Given the description of an element on the screen output the (x, y) to click on. 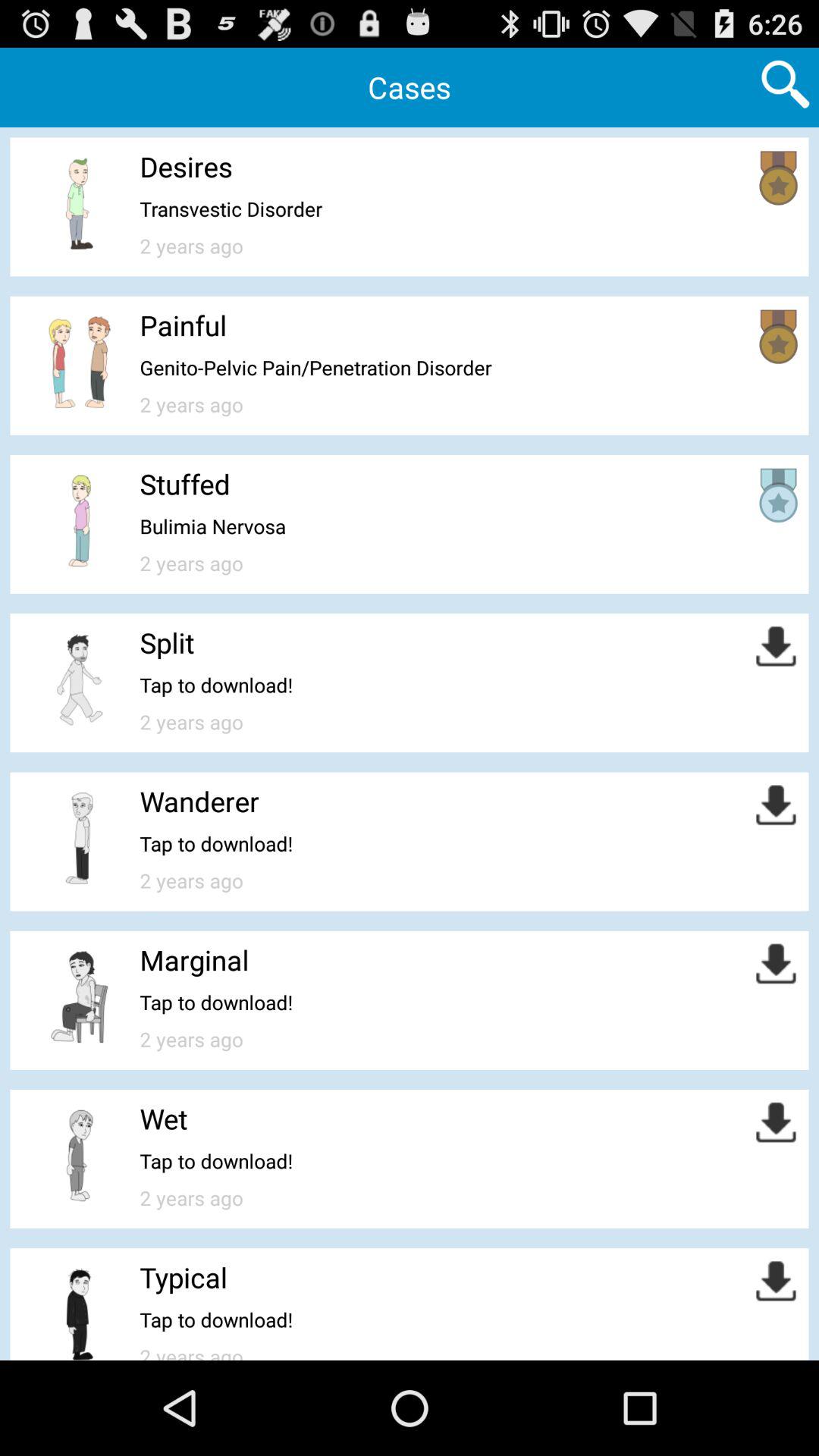
flip to the painful (182, 325)
